Given the description of an element on the screen output the (x, y) to click on. 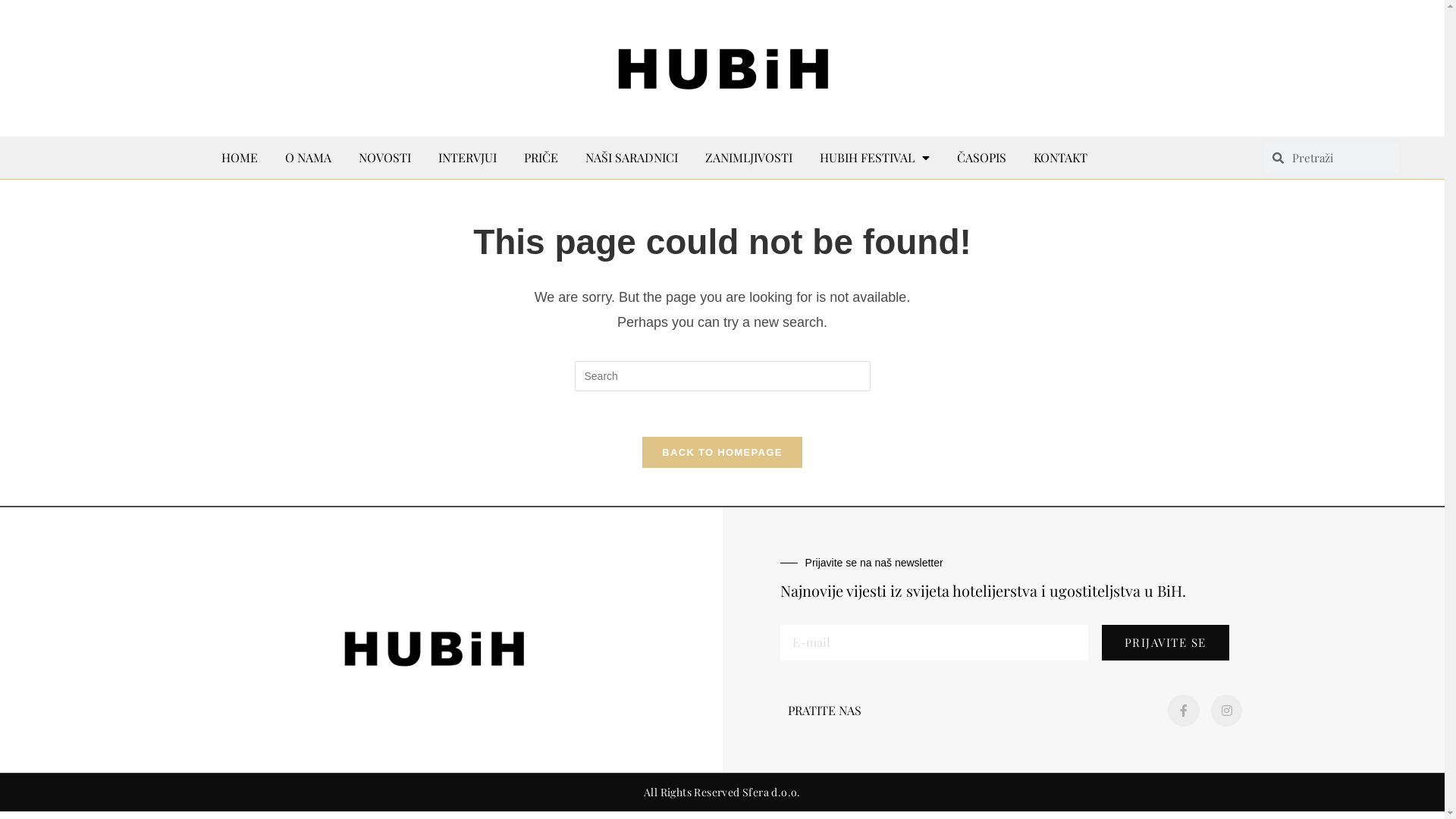
HOME Element type: text (239, 157)
INTERVJUI Element type: text (467, 157)
PRIJAVITE SE Element type: text (1165, 642)
NOVOSTI Element type: text (384, 157)
KONTAKT Element type: text (1060, 157)
ZANIMLJIVOSTI Element type: text (748, 157)
HUBIH FESTIVAL Element type: text (874, 157)
O NAMA Element type: text (308, 157)
BACK TO HOMEPAGE Element type: text (721, 451)
